Given the description of an element on the screen output the (x, y) to click on. 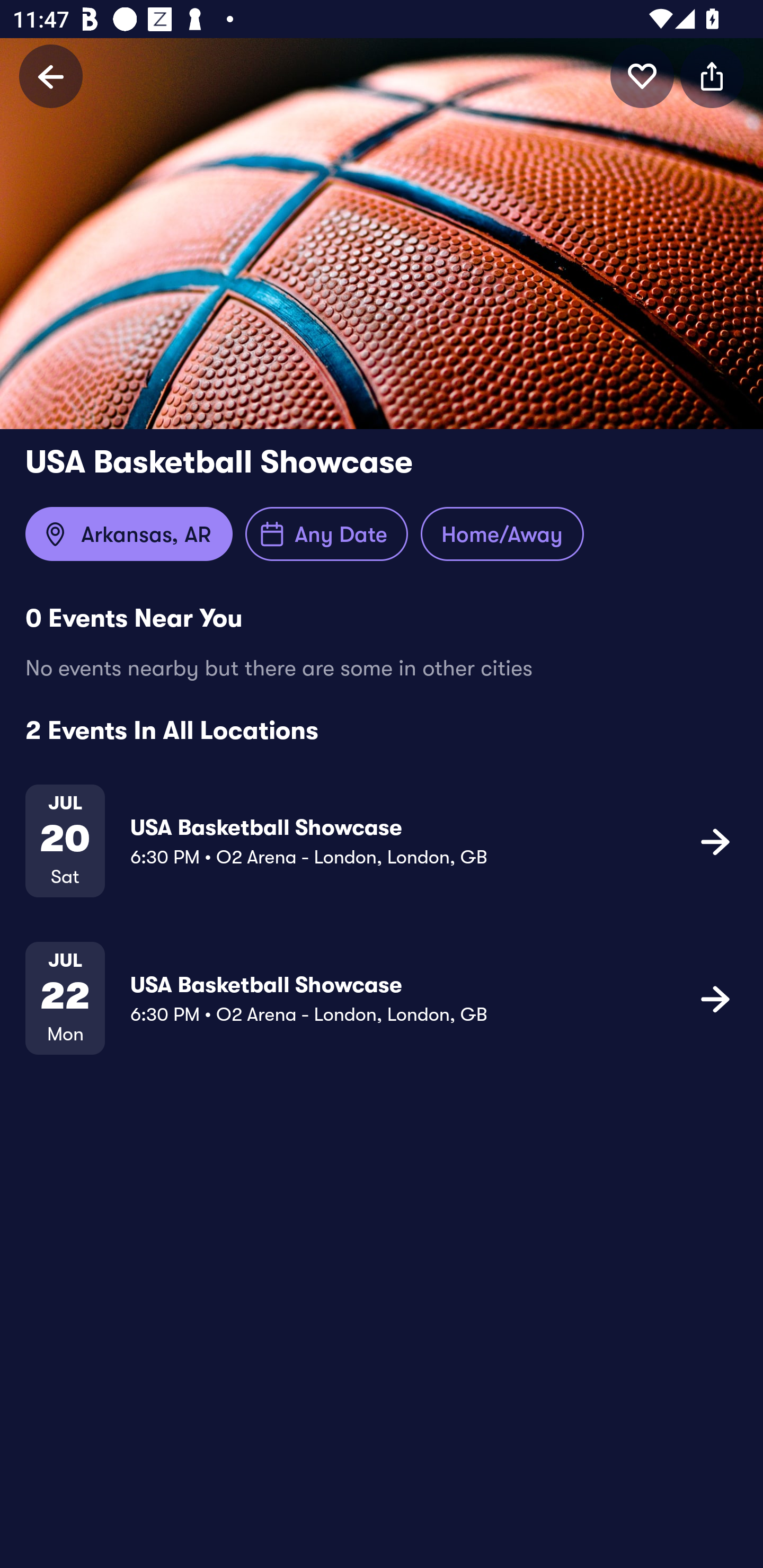
Back (50, 75)
icon button (641, 75)
icon button (711, 75)
Arkansas, AR (128, 533)
Any Date (326, 533)
Home/Away (501, 533)
icon button (714, 840)
icon button (714, 998)
